Given the description of an element on the screen output the (x, y) to click on. 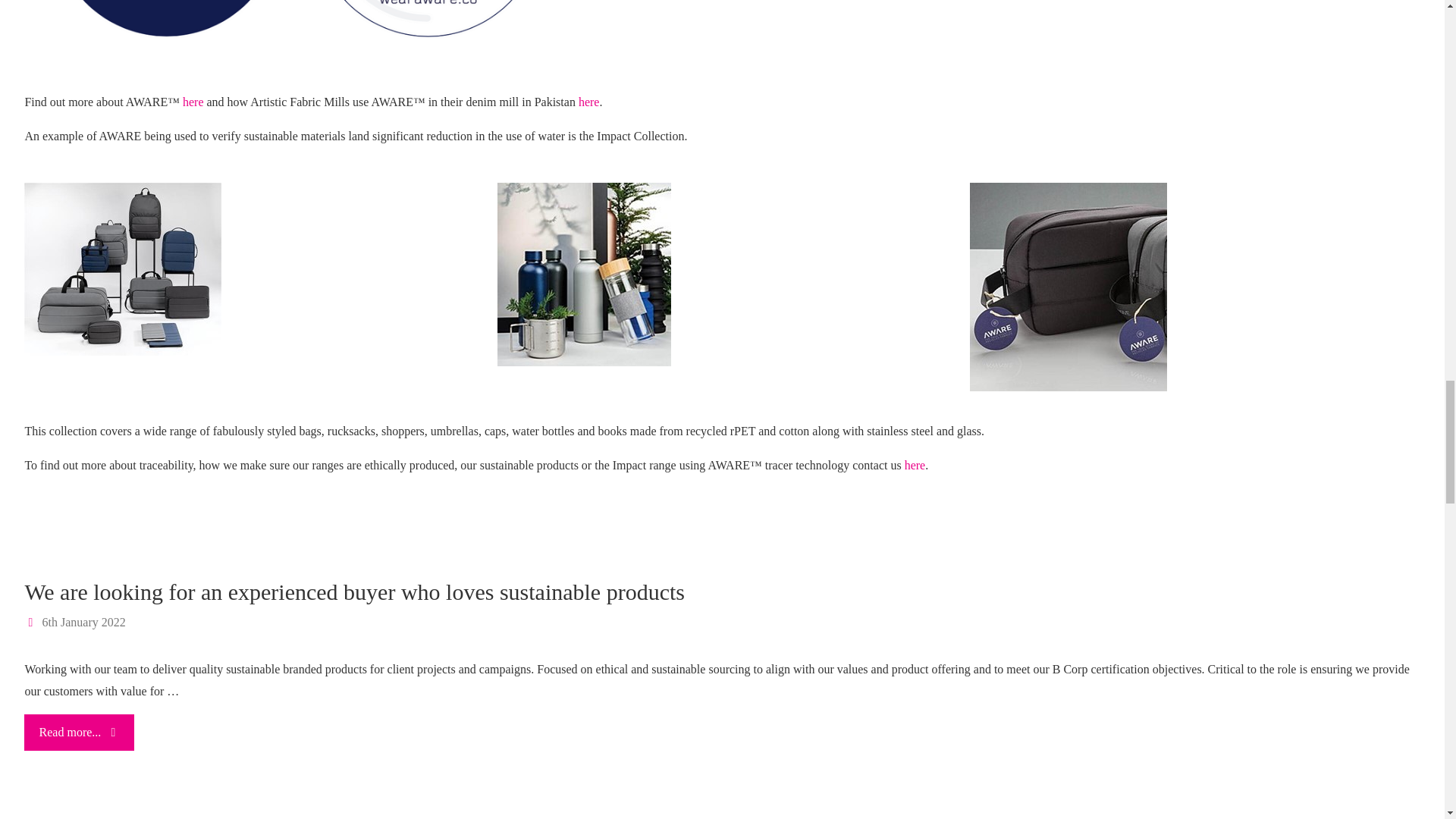
Date (31, 621)
here (588, 101)
here (915, 464)
Read more... (78, 732)
here (193, 101)
